Given the description of an element on the screen output the (x, y) to click on. 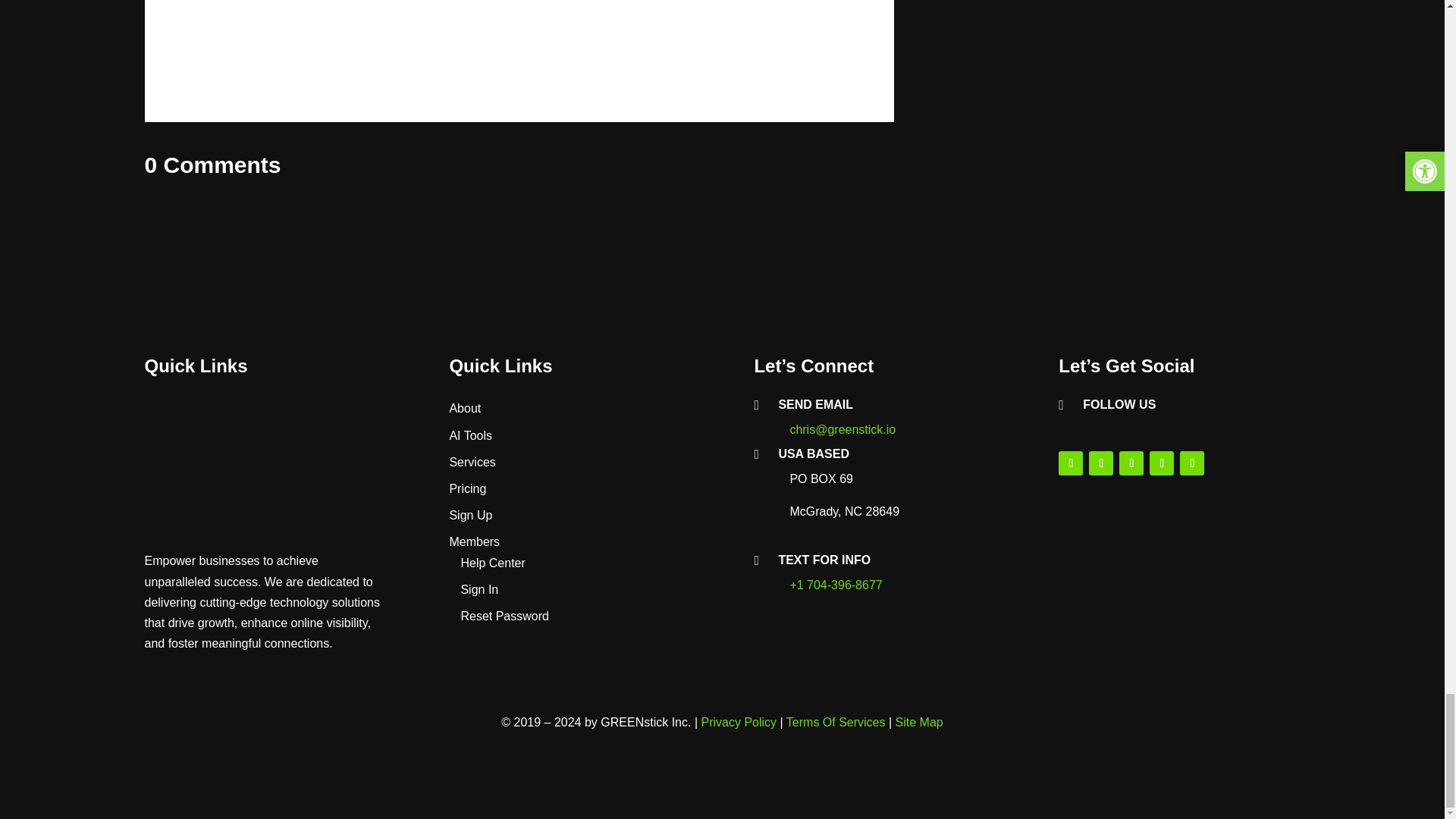
TEXT FOR INFO (823, 559)
Follow on TikTok (1191, 463)
Services (471, 461)
SEND EMAIL (815, 404)
Sign In (478, 589)
FOLLOW US (1119, 404)
Members (473, 541)
USA BASED (812, 453)
Follow on Instagram (1101, 463)
Sign Up (470, 514)
